Given the description of an element on the screen output the (x, y) to click on. 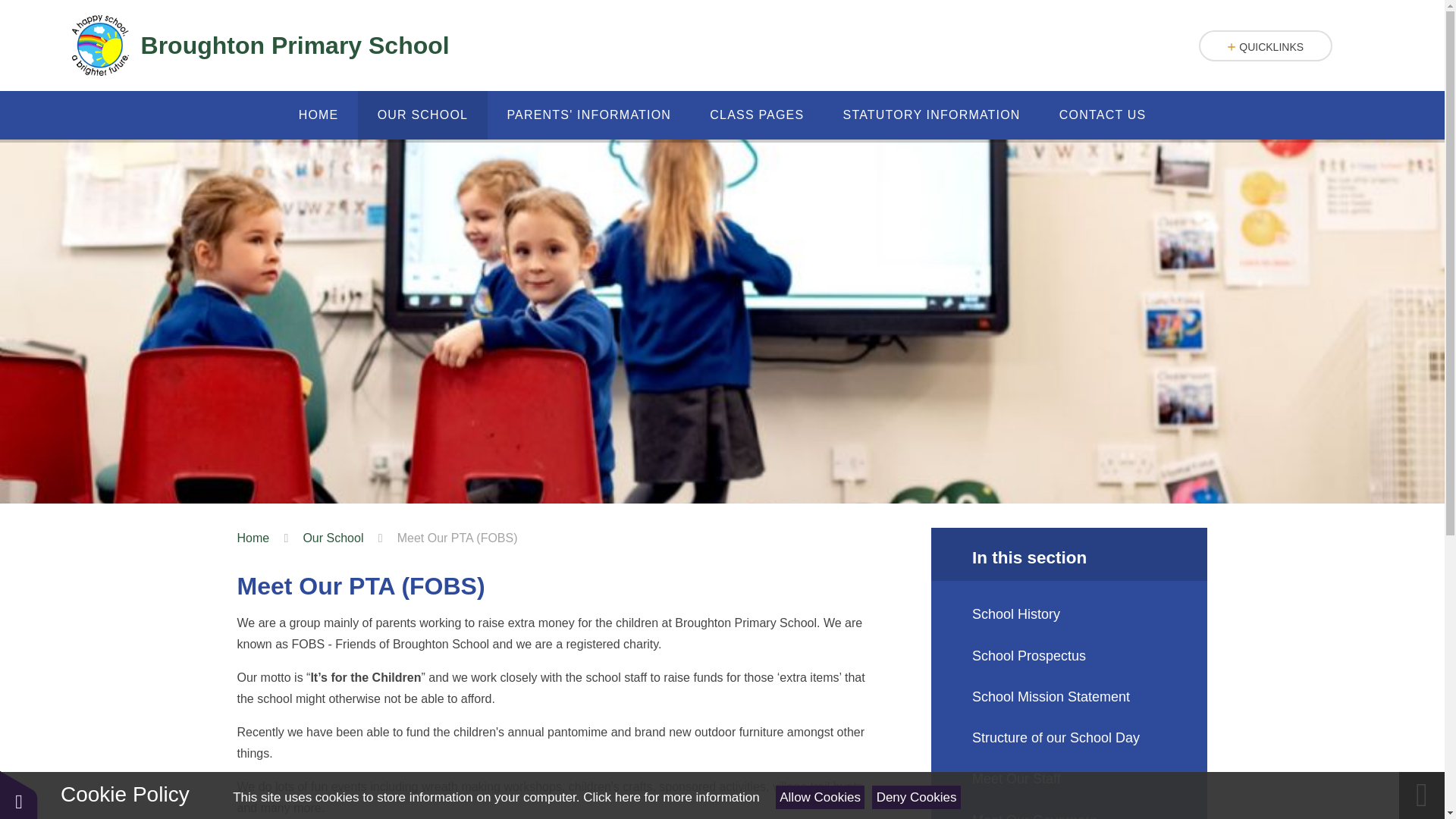
Deny Cookies (915, 797)
OUR SCHOOL (422, 114)
PARENTS' INFORMATION (588, 114)
Allow Cookies (820, 797)
Broughton Primary School (259, 45)
HOME (318, 114)
See cookie policy (670, 797)
